Given the description of an element on the screen output the (x, y) to click on. 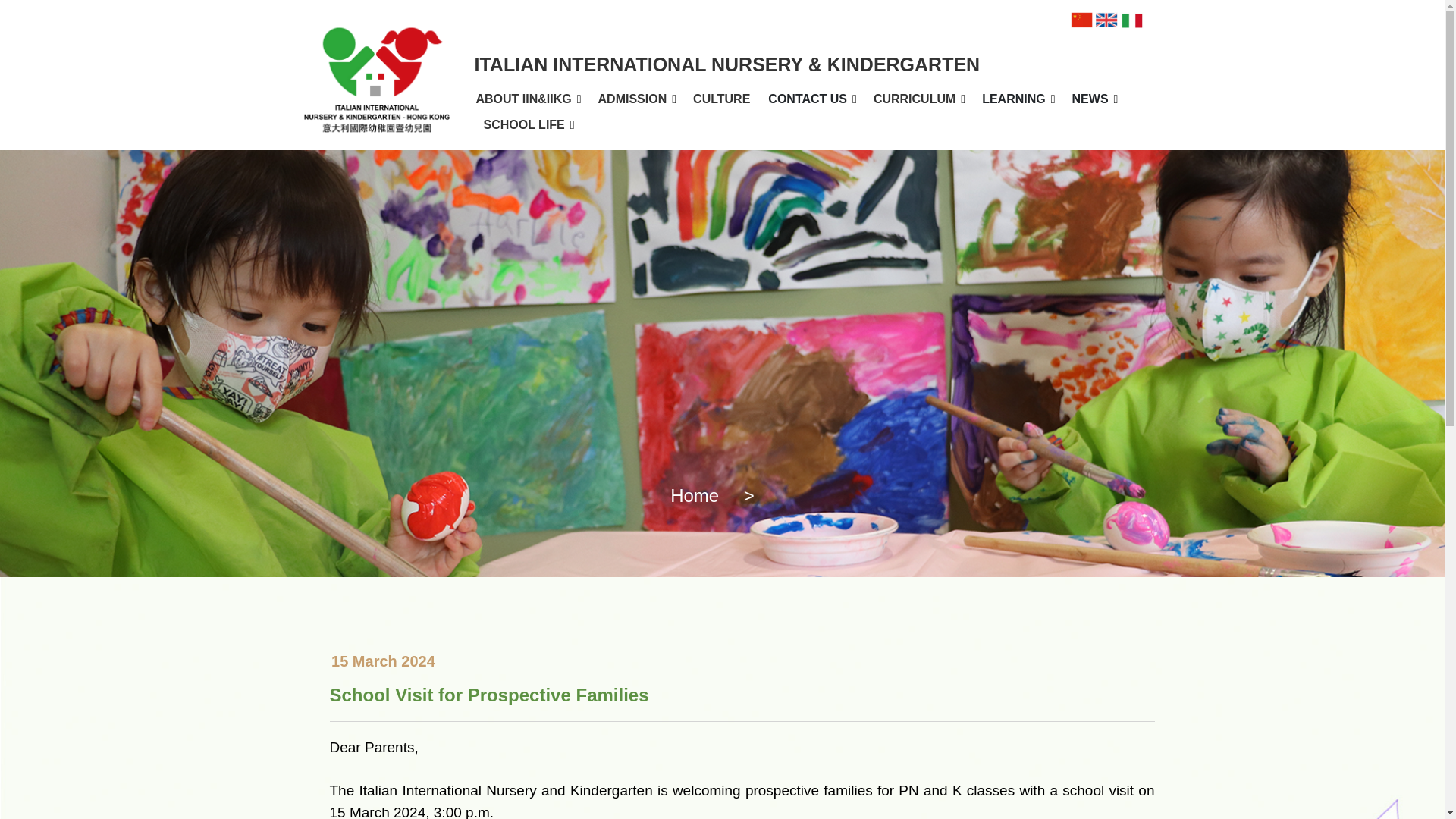
CURRICULUM (914, 99)
NEWS (1089, 99)
Project Visits And Outings (1050, 132)
They Say About Us (1121, 132)
CONTACT US (807, 99)
CULTURE (721, 99)
ADMISSION (632, 99)
Our Location (828, 125)
Requirements (679, 125)
Internship Programme (828, 132)
LEARNING (1012, 99)
Pre-Nursery (863, 125)
Reggio Emilia Approach (938, 132)
About Us (545, 125)
Why Study Italian? (938, 125)
